Given the description of an element on the screen output the (x, y) to click on. 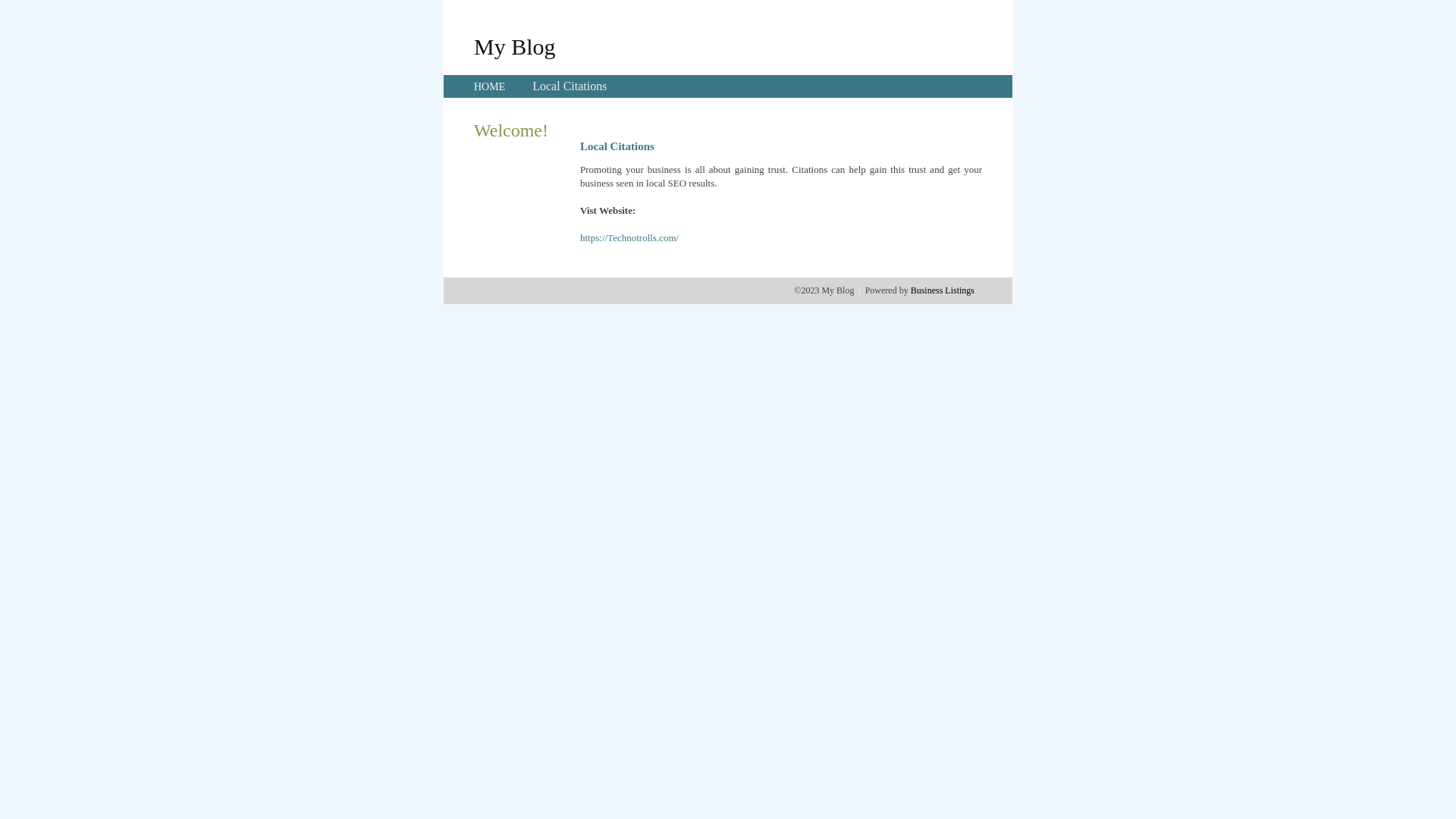
Business Listings Element type: text (942, 290)
My Blog Element type: text (514, 46)
HOME Element type: text (489, 86)
https://Technotrolls.com/ Element type: text (629, 237)
Local Citations Element type: text (569, 85)
